Given the description of an element on the screen output the (x, y) to click on. 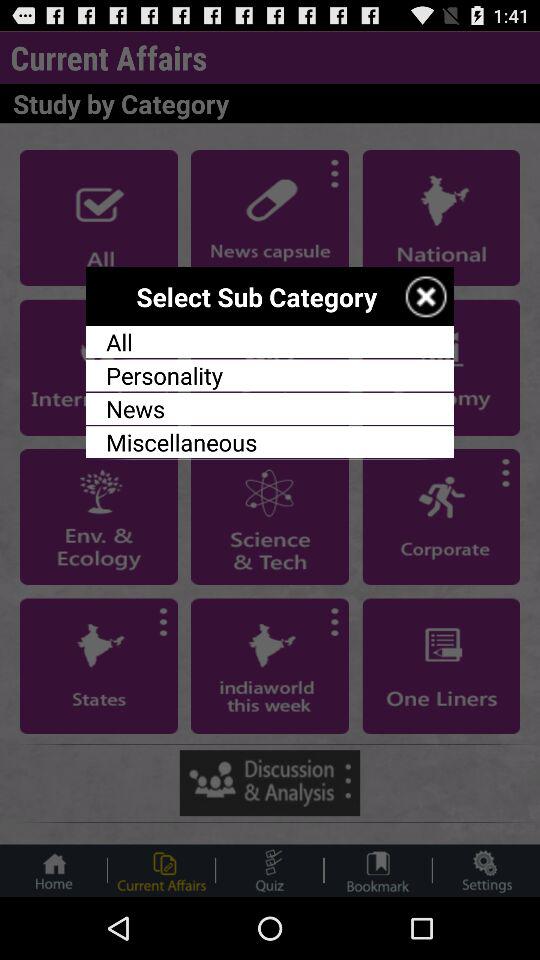
tap icon next to select sub category icon (425, 296)
